Given the description of an element on the screen output the (x, y) to click on. 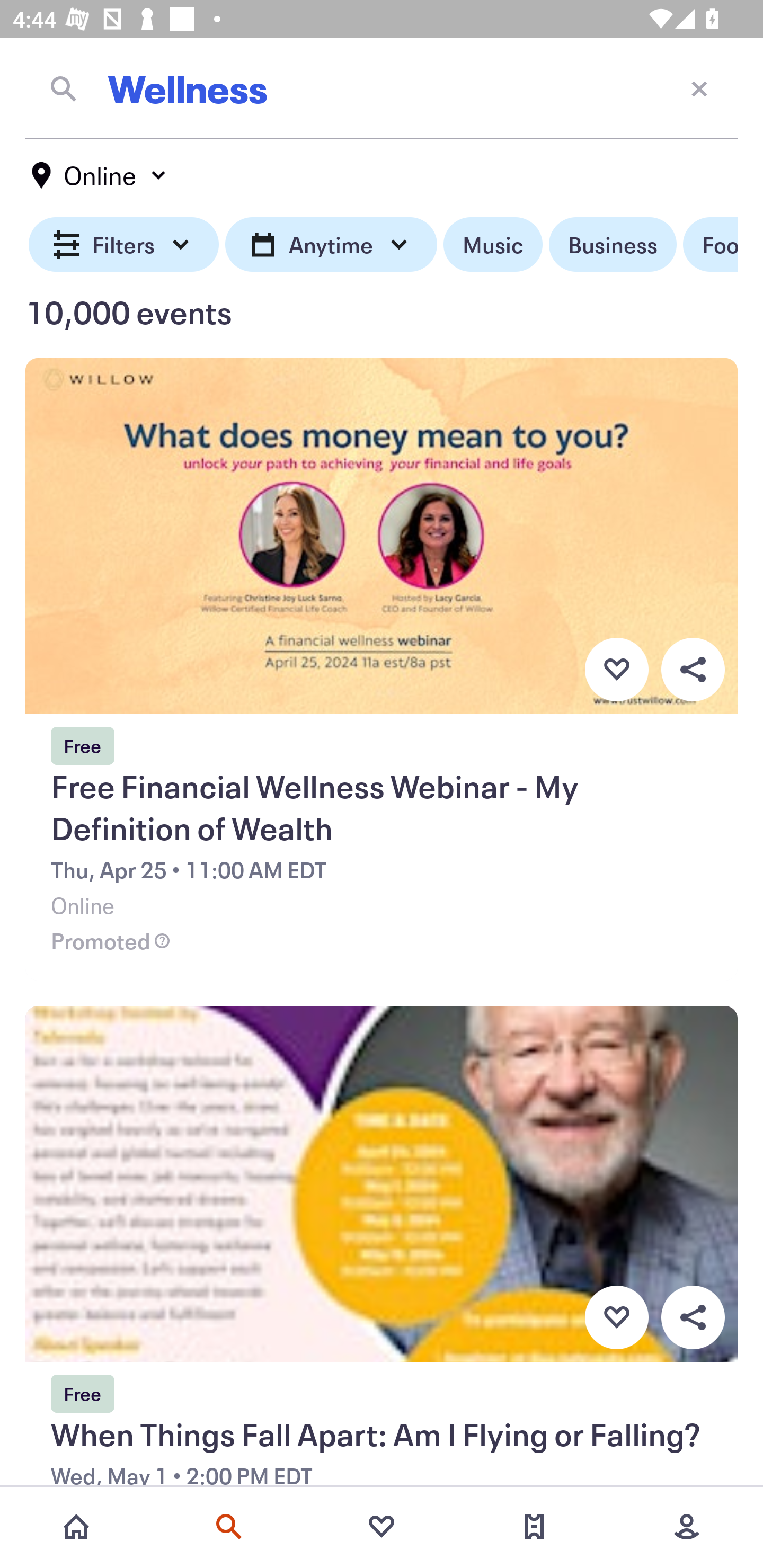
Wellness Close current screen (381, 88)
Close current screen (699, 88)
Online (99, 175)
Filters (123, 244)
Anytime (331, 244)
Music (492, 244)
Business (612, 244)
Favorite button (616, 669)
Overflow menu button (692, 669)
Favorite button (616, 1317)
Overflow menu button (692, 1317)
Home (76, 1526)
Search events (228, 1526)
Favorites (381, 1526)
Tickets (533, 1526)
More (686, 1526)
